Given the description of an element on the screen output the (x, y) to click on. 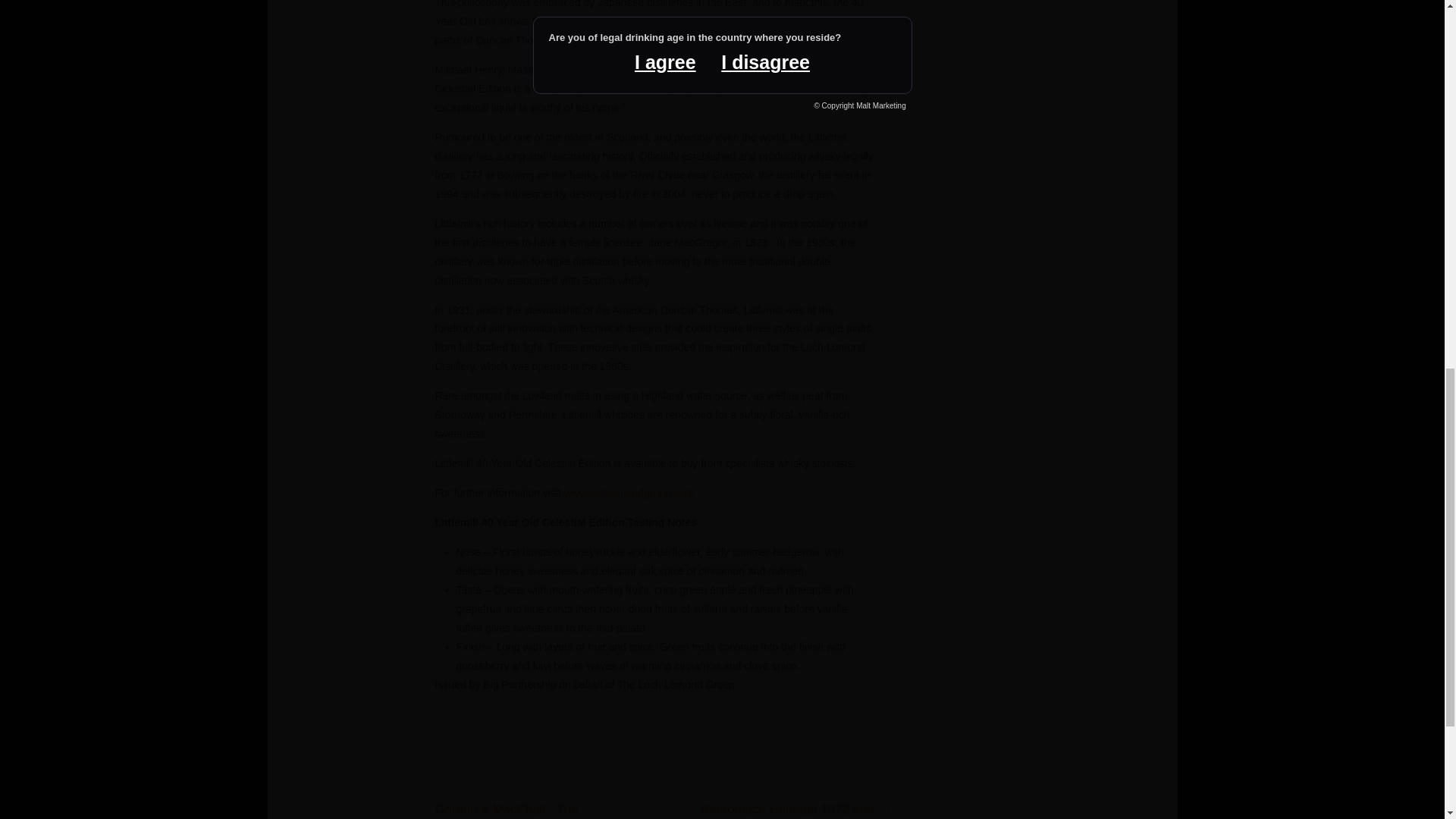
Benromach Heritage 1972 and 1977 Available Worldwide (786, 809)
www.lochlomondgroup.com (629, 492)
Previous (523, 809)
Next (786, 809)
